Given the description of an element on the screen output the (x, y) to click on. 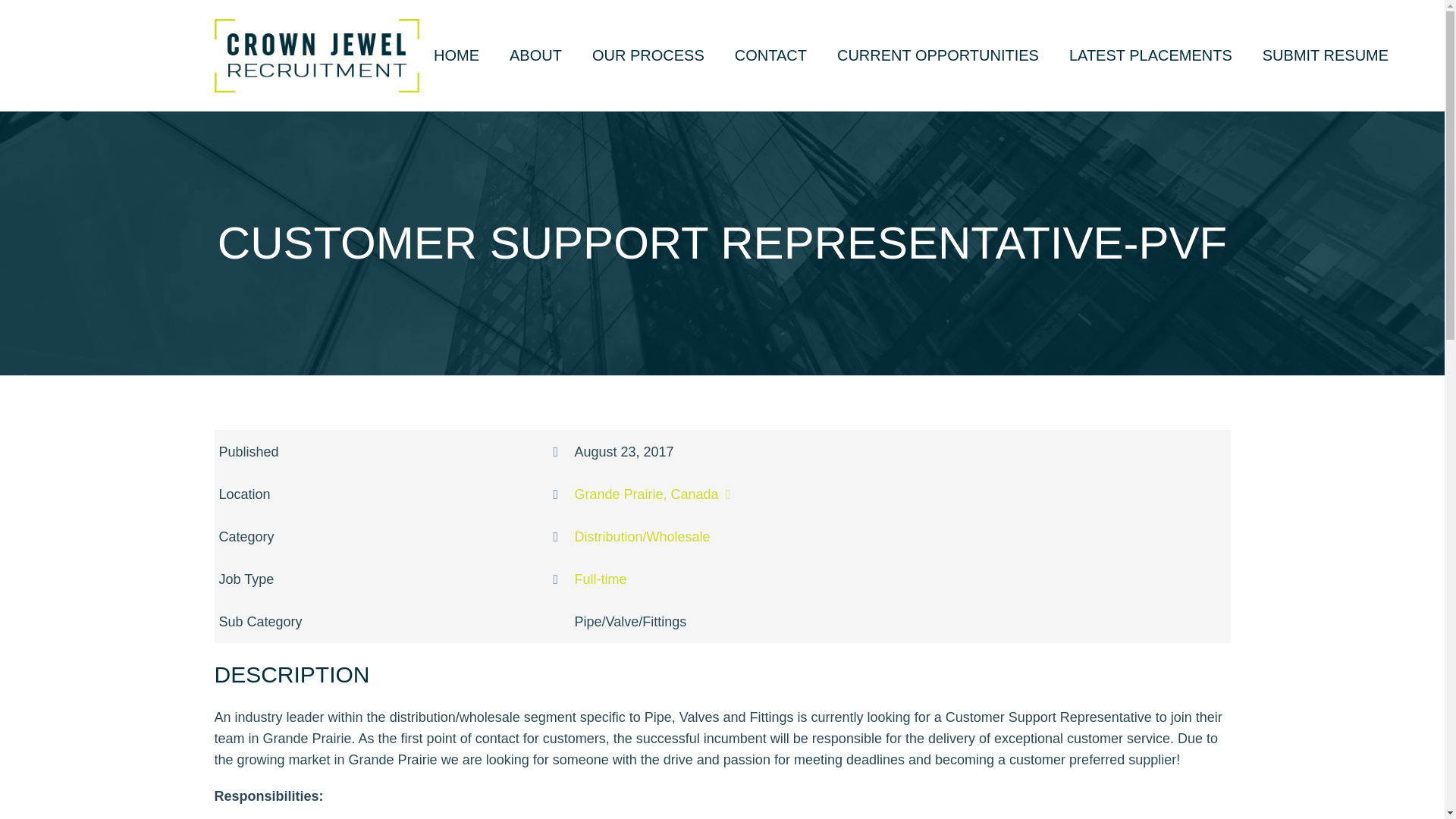
OUR PROCESS (647, 55)
SUBMIT RESUME (1325, 55)
CURRENT OPPORTUNITIES (938, 55)
CONTACT (770, 55)
show on map (656, 494)
LATEST PLACEMENTS (1150, 55)
Grande Prairie, Canada (656, 494)
Full-time (601, 579)
